Given the description of an element on the screen output the (x, y) to click on. 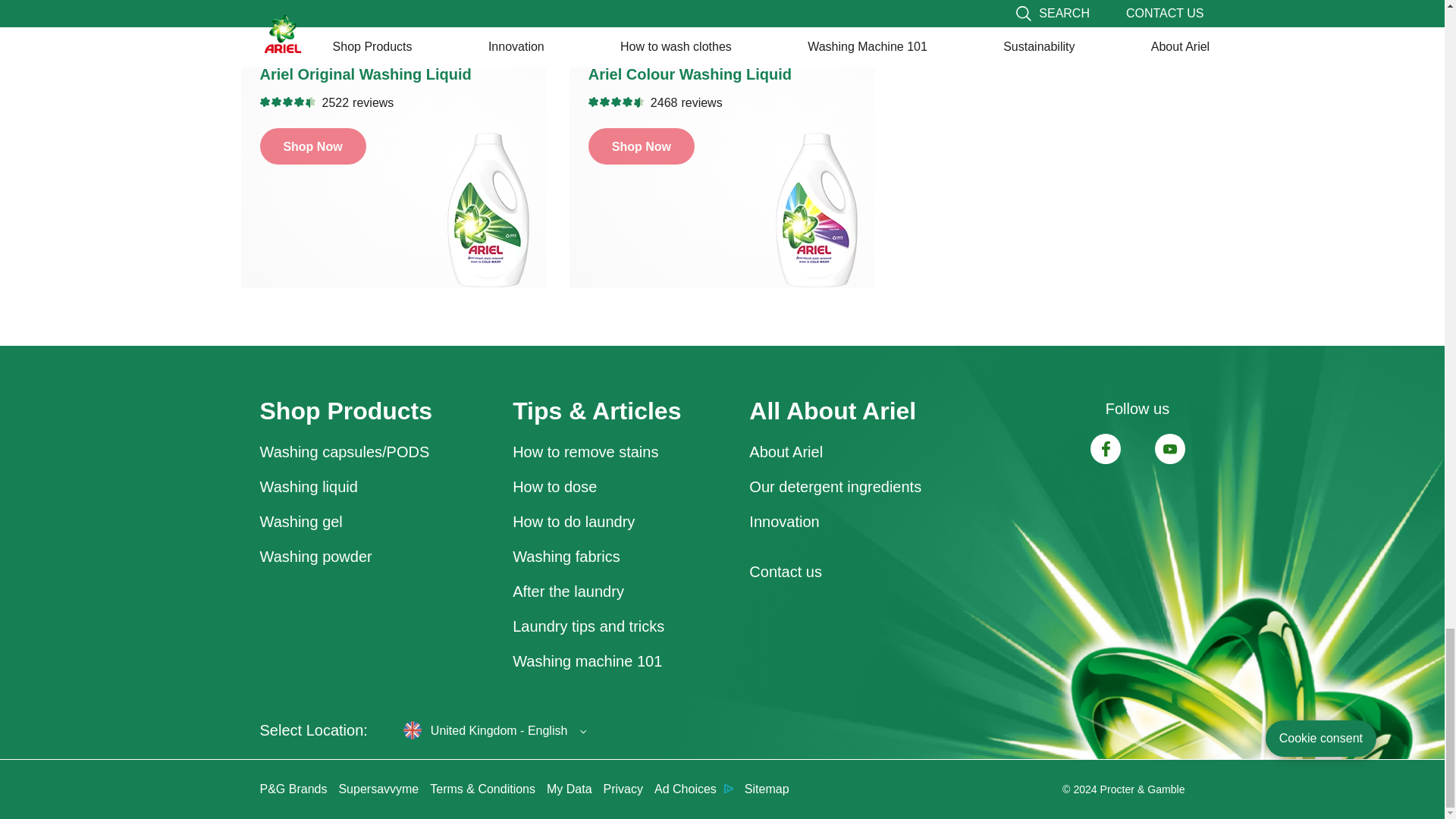
Facebook (1105, 449)
Group 2 (1169, 449)
